Given the description of an element on the screen output the (x, y) to click on. 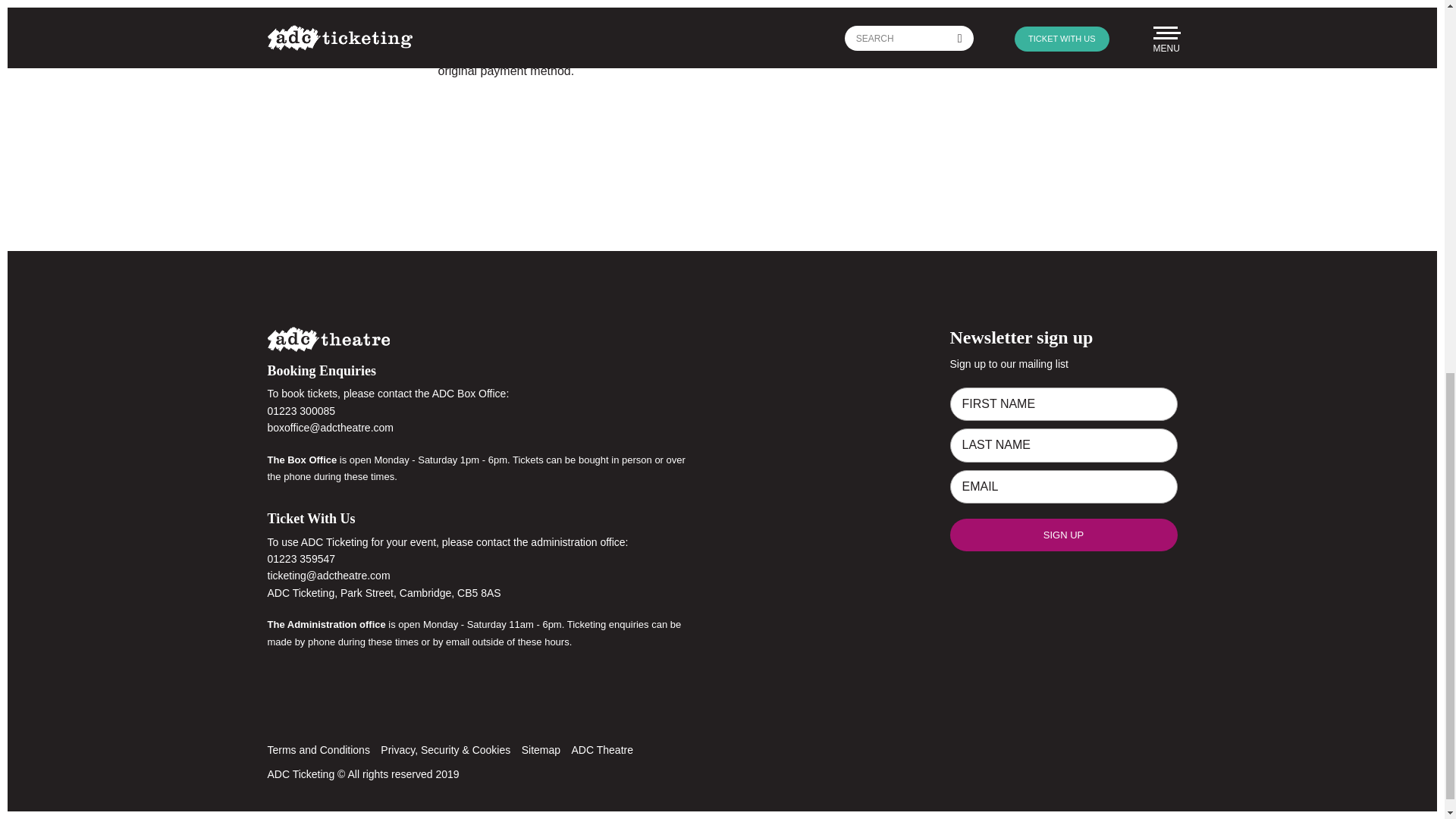
ADC Theatre (602, 749)
Terms and Conditions (317, 749)
SIGN UP (1062, 534)
Sitemap (540, 749)
